Given the description of an element on the screen output the (x, y) to click on. 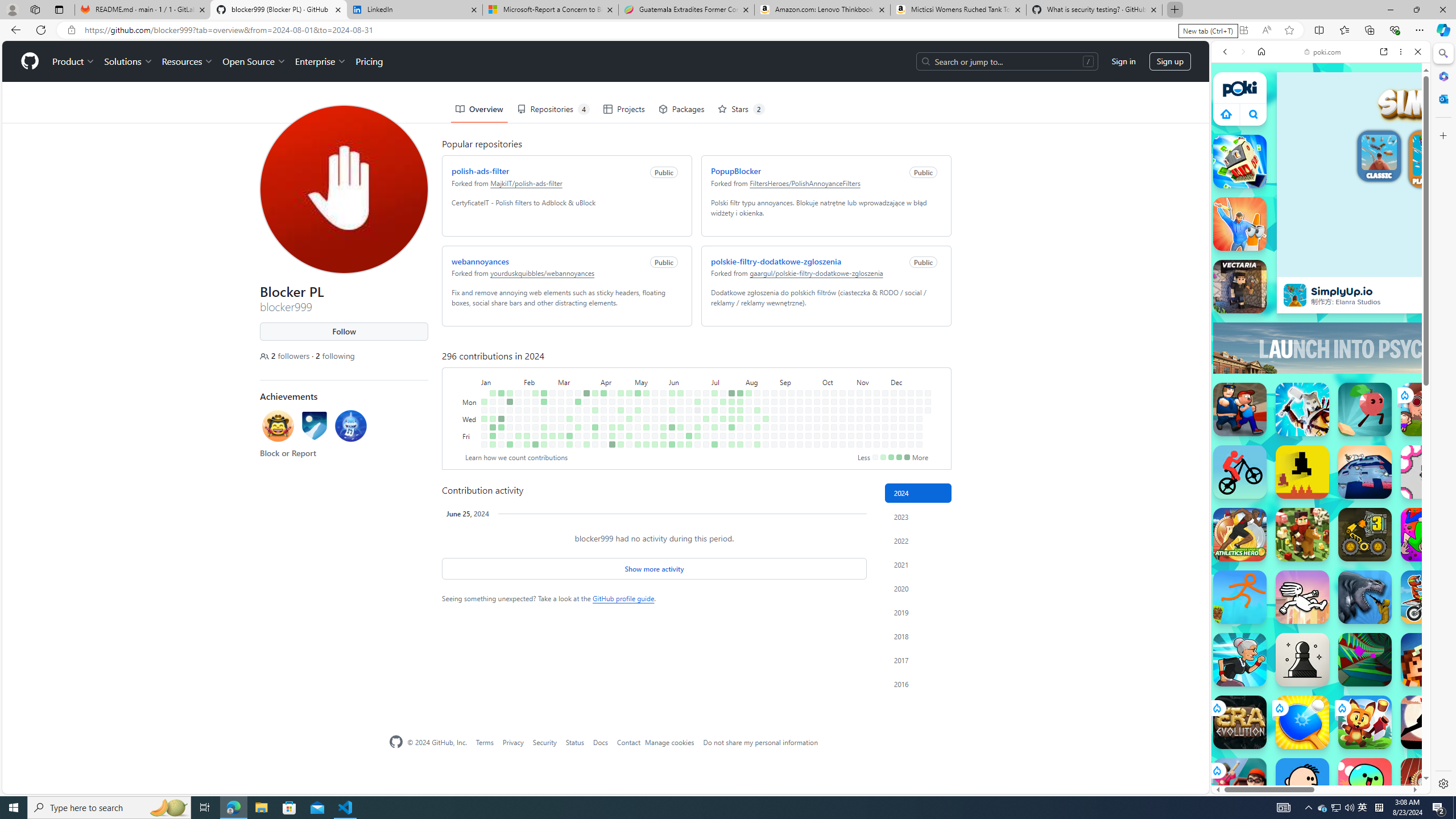
Io Games (1320, 350)
No contributions on October 10th. (825, 427)
No contributions on October 17th. (834, 427)
No contributions on November 8th. (859, 435)
Open Source (254, 60)
No contributions on July 26th. (731, 435)
No contributions on December 29th. (927, 392)
No contributions on December 7th. (893, 444)
No contributions on February 8th. (526, 427)
No contributions on February 15th. (535, 427)
No contributions on December 3rd. (893, 410)
2 contributions on May 30th. (663, 427)
2 contributions on June 4th. (671, 410)
Narrow.One (1302, 409)
Show more activity (654, 568)
